Given the description of an element on the screen output the (x, y) to click on. 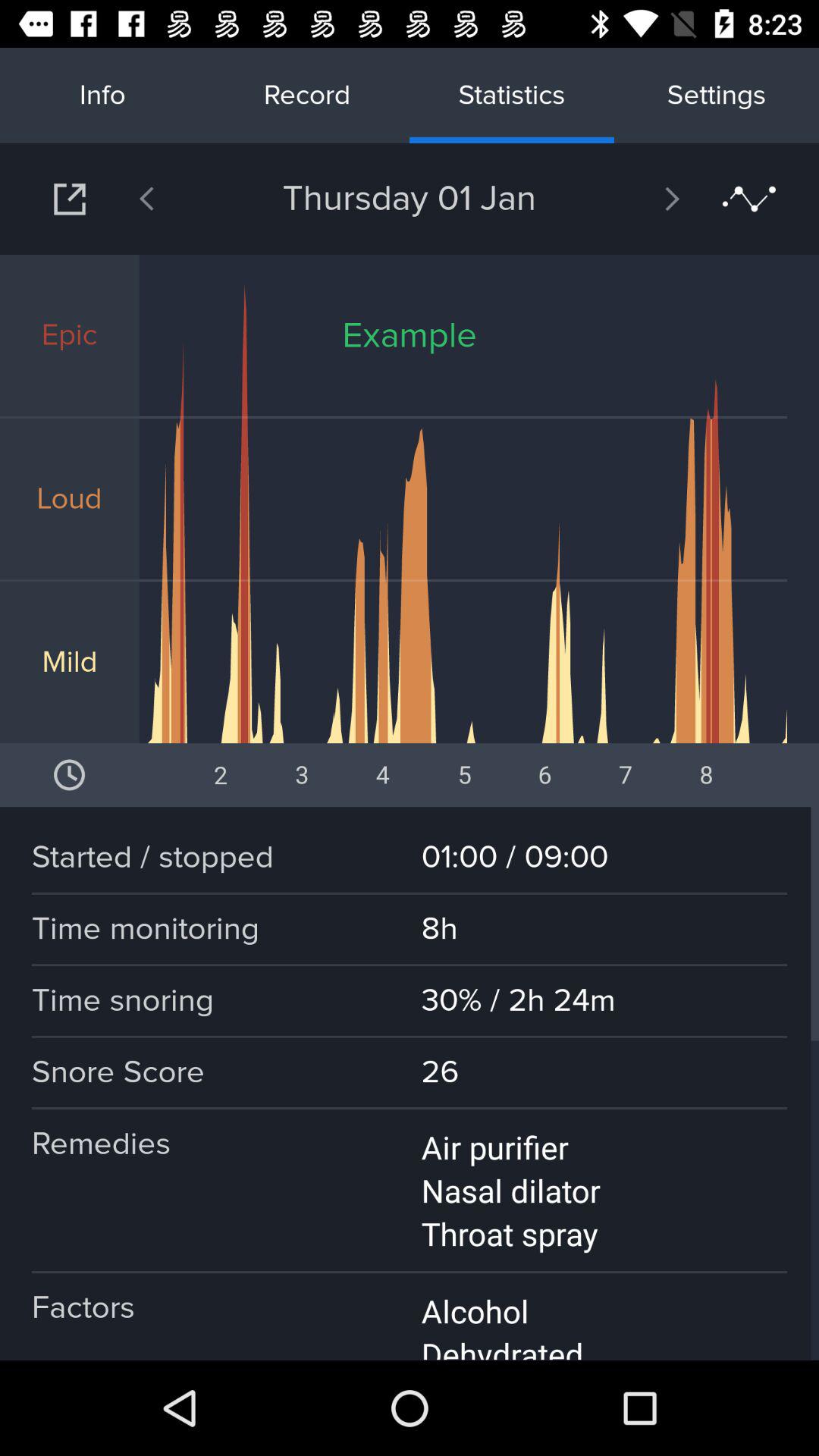
tap the icon next to thursday 01 jan (632, 198)
